Given the description of an element on the screen output the (x, y) to click on. 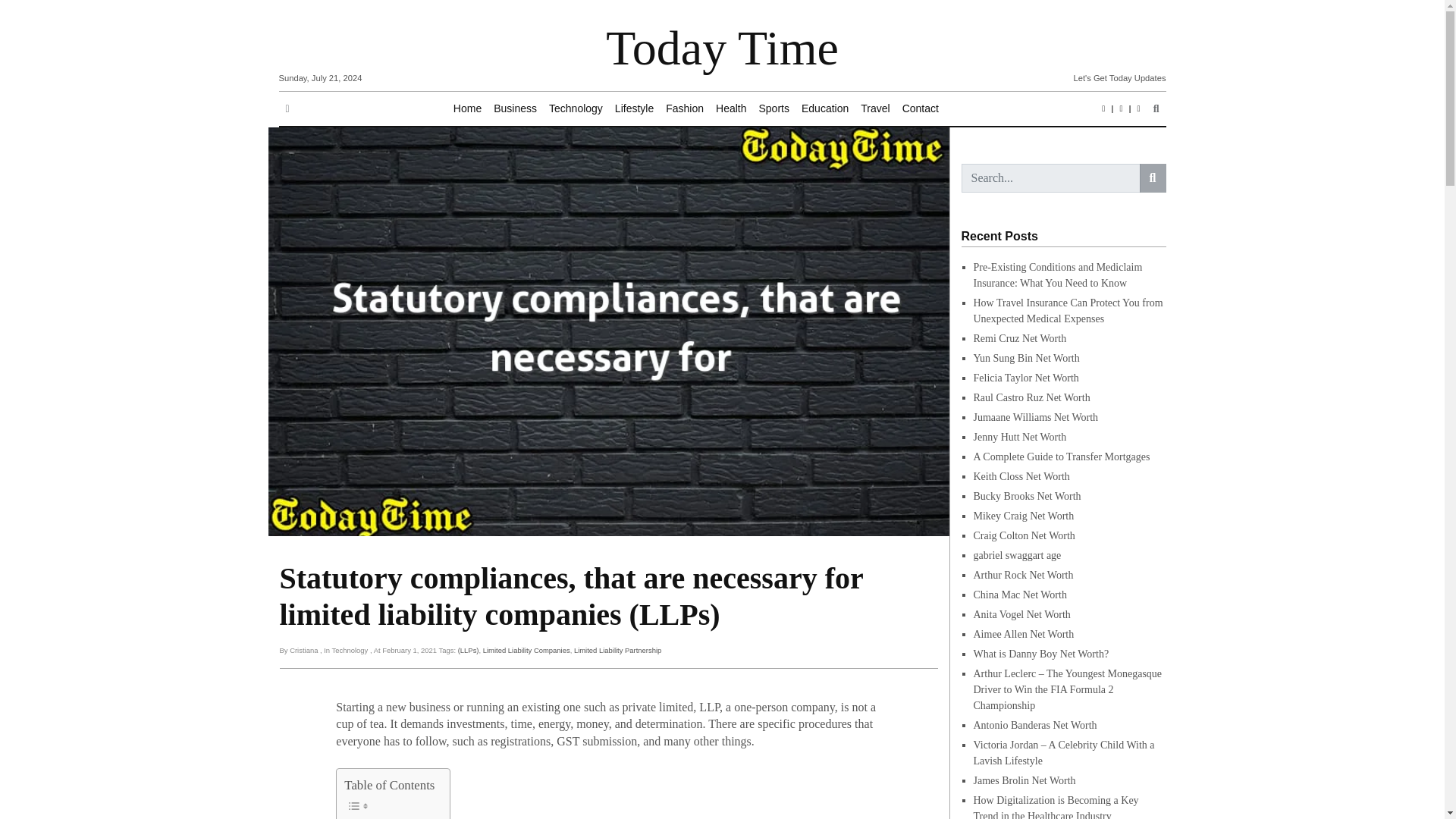
Travel (874, 108)
Contact (920, 108)
Limited Liability Partnership (617, 650)
Health (731, 108)
Fashion (684, 108)
Home (466, 108)
Lifestyle (633, 108)
Education (824, 108)
Travel (874, 108)
Sports (773, 108)
Sports (773, 108)
Health (731, 108)
Technology (575, 108)
Technology (575, 108)
Fashion (684, 108)
